Given the description of an element on the screen output the (x, y) to click on. 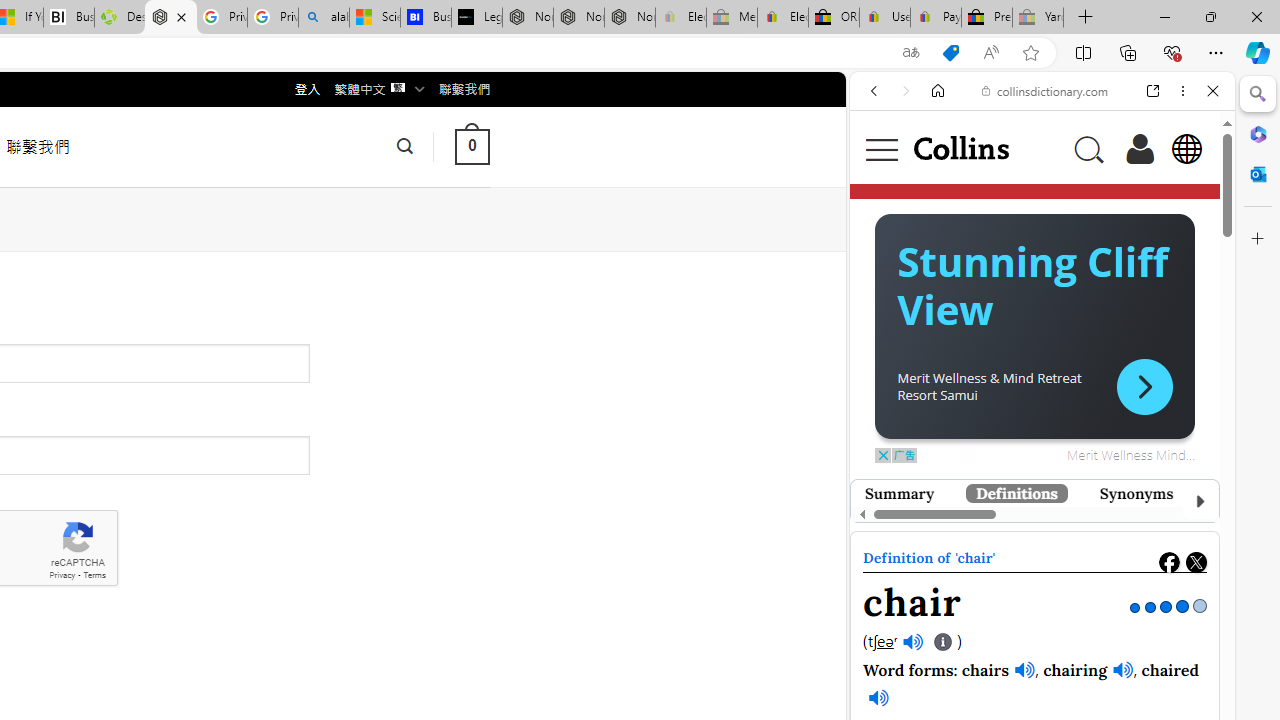
  0   (472, 146)
professorship (990, 691)
Show more (1129, 615)
chairperson (985, 615)
Share this page on Facebook (1169, 562)
Class: ns-14utm-e-1 svg-anchor (1027, 539)
Oxford Languages (1146, 281)
Merit Wellness & Mind Retreat Resort Samui (989, 385)
Class: ns-vyjj0-e-1 svg-anchor (1034, 536)
